Given the description of an element on the screen output the (x, y) to click on. 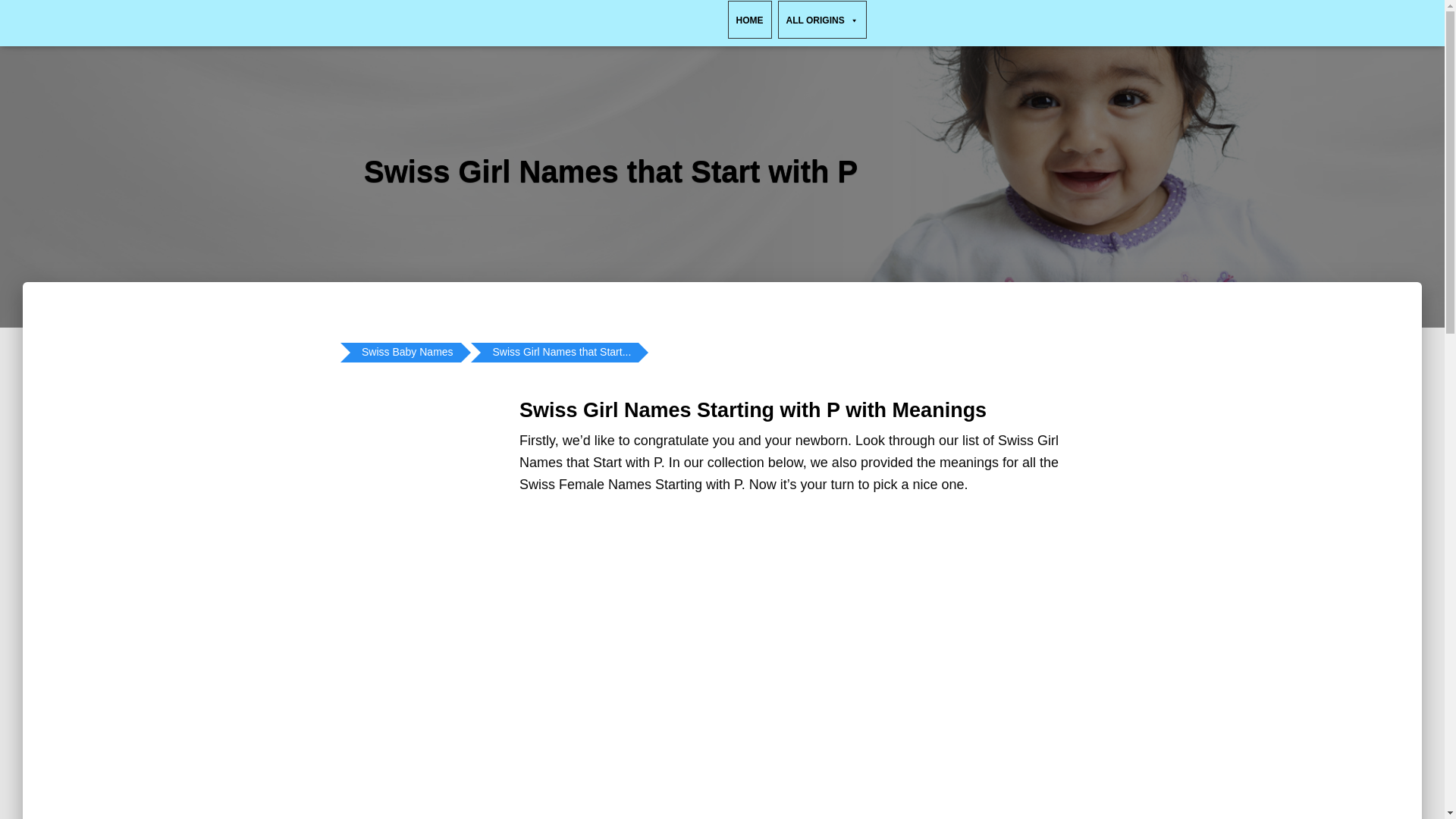
Swiss Baby Names (407, 352)
HOME (749, 19)
Swiss Girl Names that Start with P (561, 352)
ALL ORIGINS (821, 19)
